Given the description of an element on the screen output the (x, y) to click on. 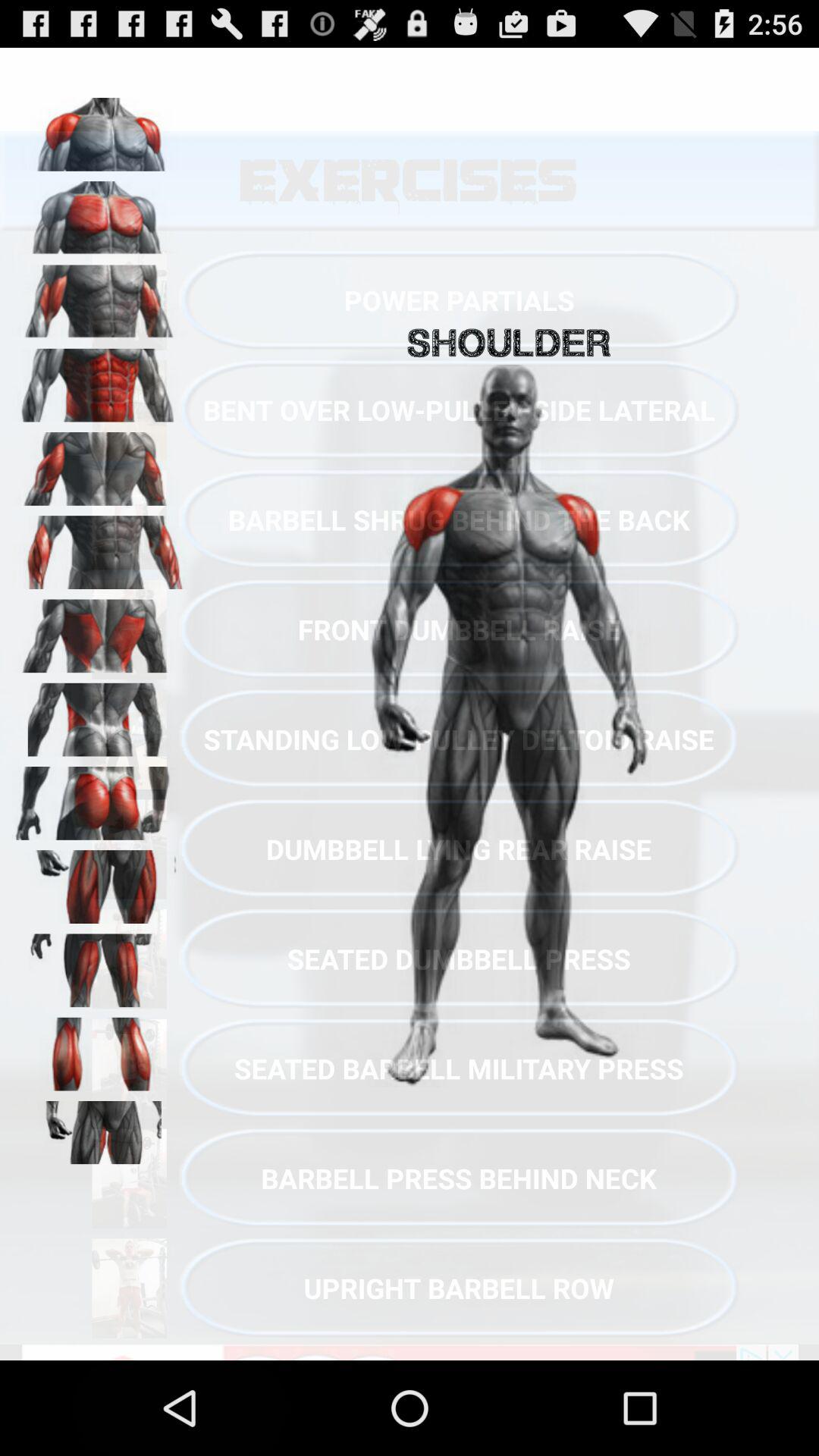
triceps muscle (99, 463)
